Given the description of an element on the screen output the (x, y) to click on. 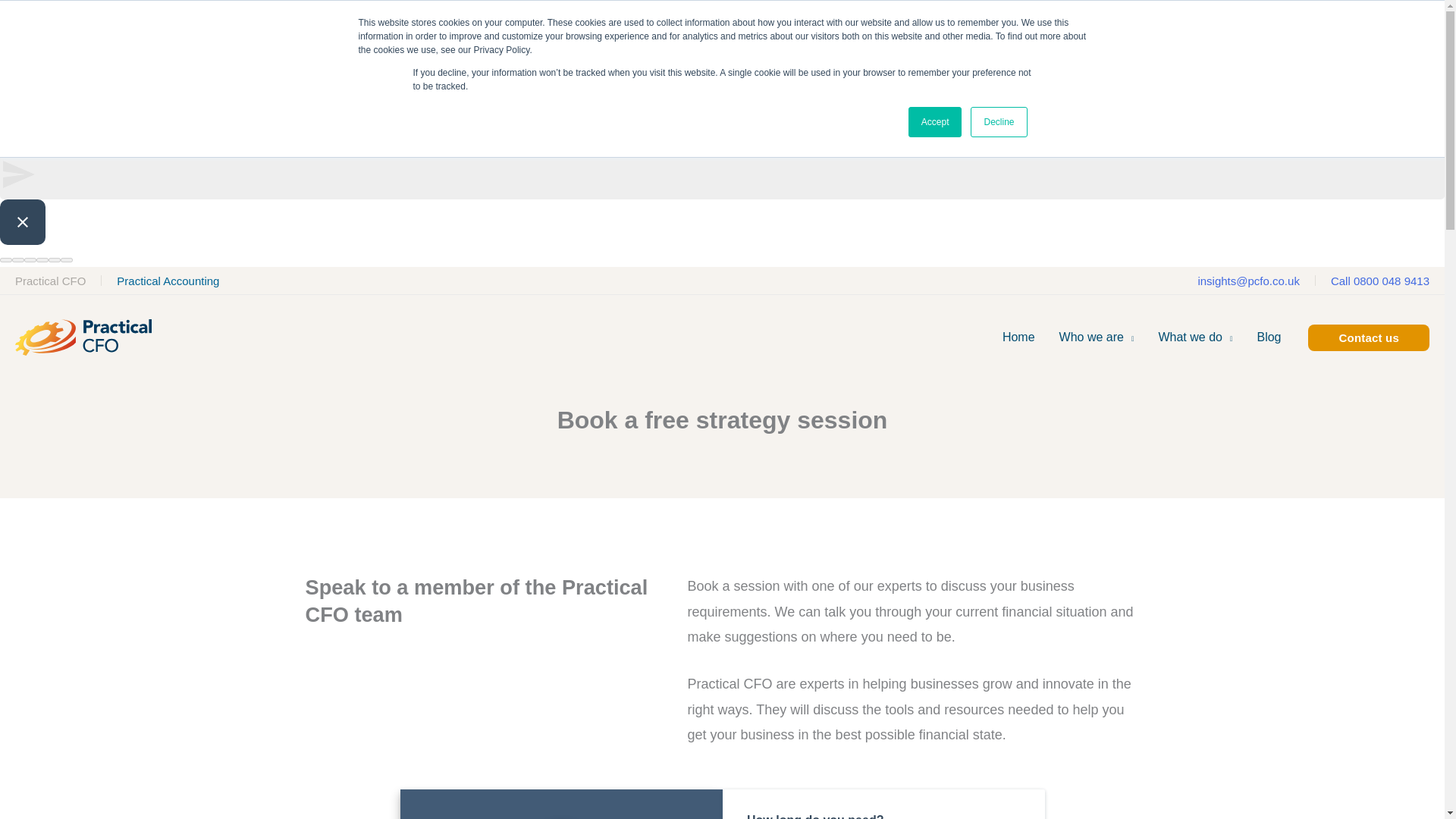
Contact us (1368, 337)
Practical Accounting (167, 280)
Accept (935, 122)
Who we are (1096, 337)
Home (1018, 337)
Decline (998, 122)
What we do (1194, 337)
Call 0800 048 9413 (1379, 280)
Speak to a member of the Practical CFO team (475, 600)
